Given the description of an element on the screen output the (x, y) to click on. 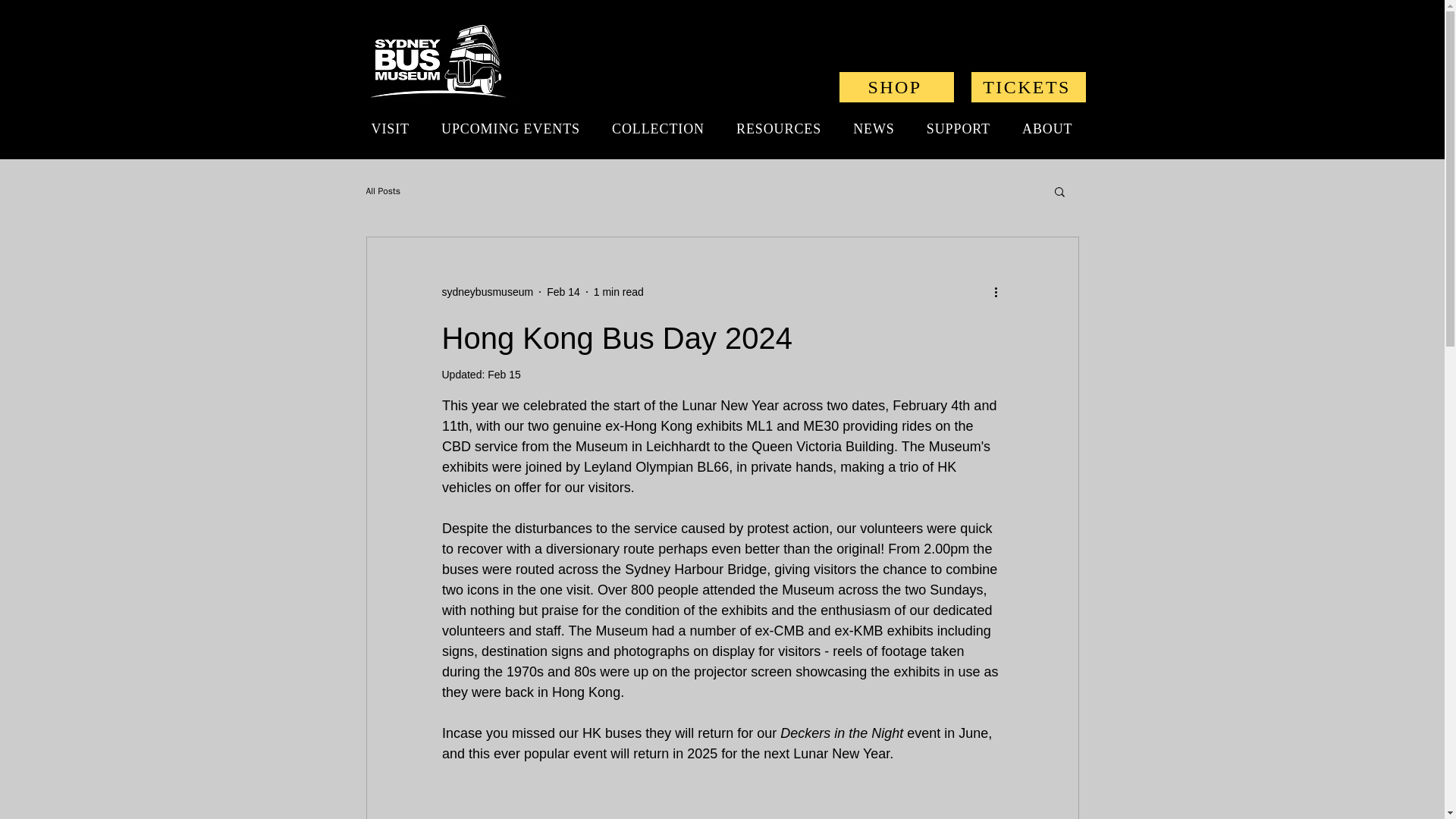
sydneybusmuseum (486, 291)
UPCOMING EVENTS (510, 128)
TICKETS (1027, 87)
COLLECTION (657, 128)
NEWS (873, 128)
All Posts (382, 191)
sydneybusmuseum (486, 291)
Feb 14 (563, 291)
Feb 15 (504, 374)
1 min read (618, 291)
